Given the description of an element on the screen output the (x, y) to click on. 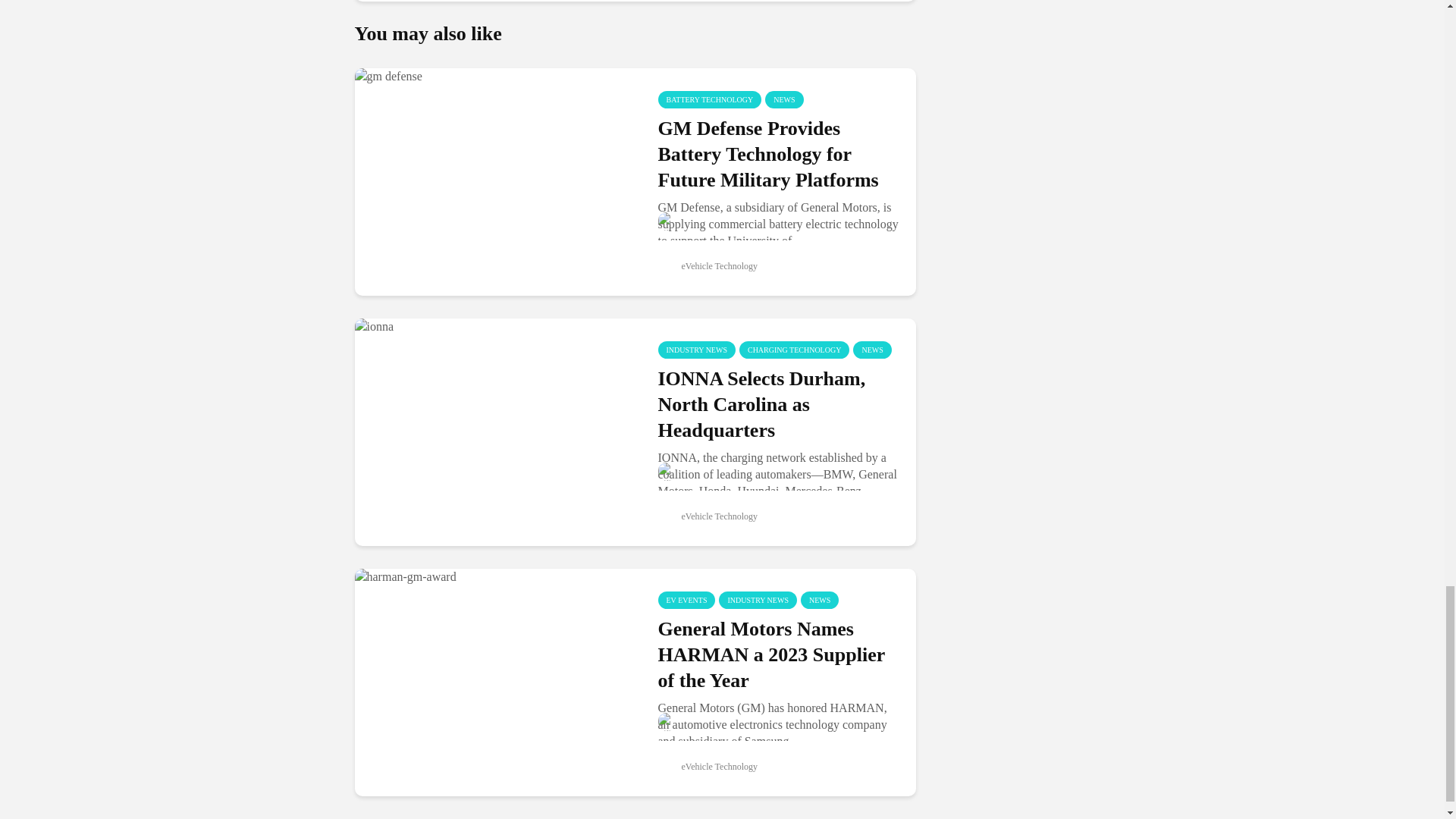
IONNA Selects Durham, North Carolina as Headquarters (494, 432)
General Motors Names HARMAN a 2023 Supplier of the Year (494, 682)
